Given the description of an element on the screen output the (x, y) to click on. 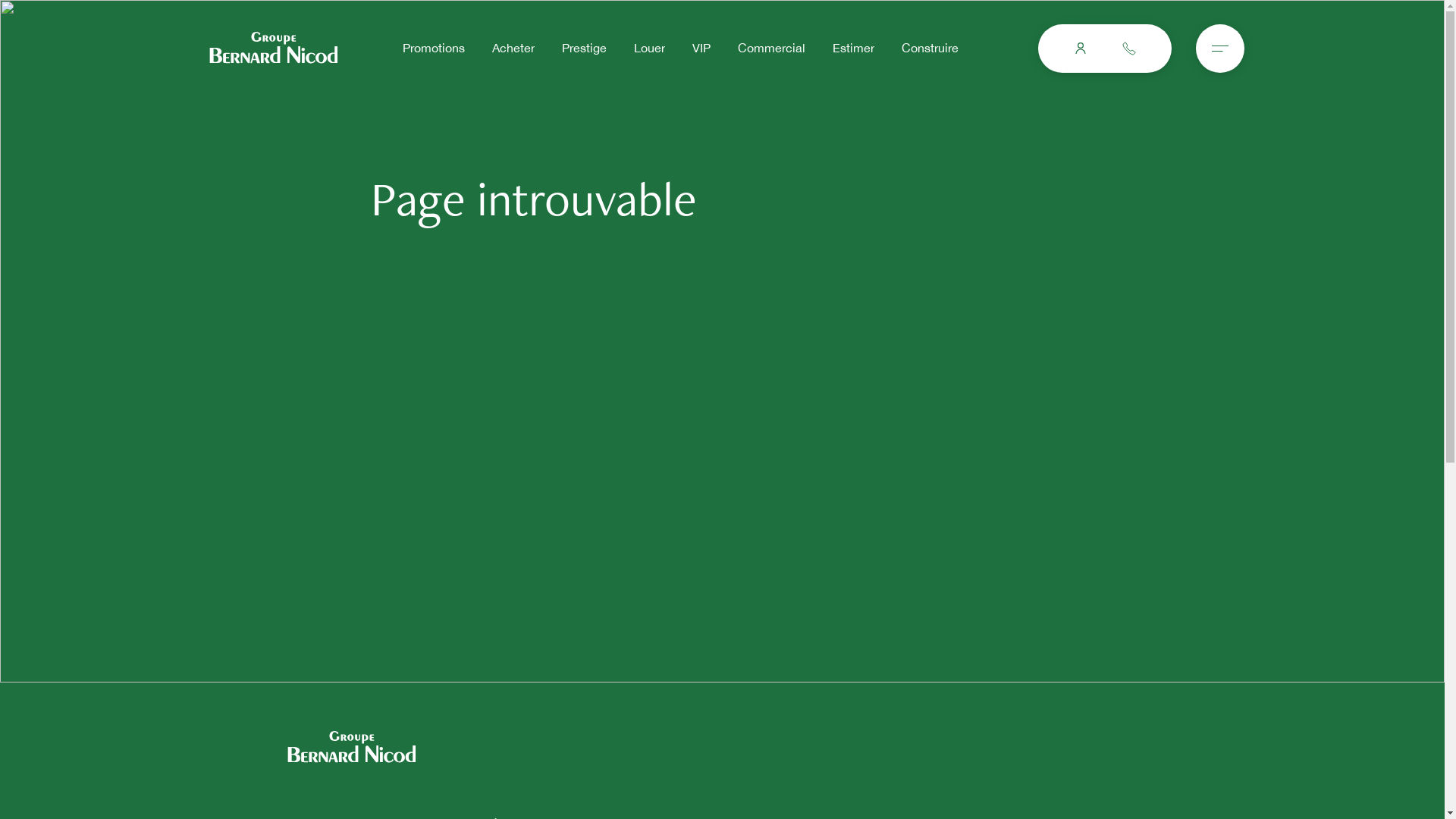
VIP Element type: text (700, 47)
Construire Element type: text (928, 47)
Acheter Element type: text (512, 47)
Commercial Element type: text (770, 47)
Promotions Element type: text (432, 47)
Louer Element type: text (648, 47)
Prestige Element type: text (583, 47)
Estimer Element type: text (852, 47)
